Given the description of an element on the screen output the (x, y) to click on. 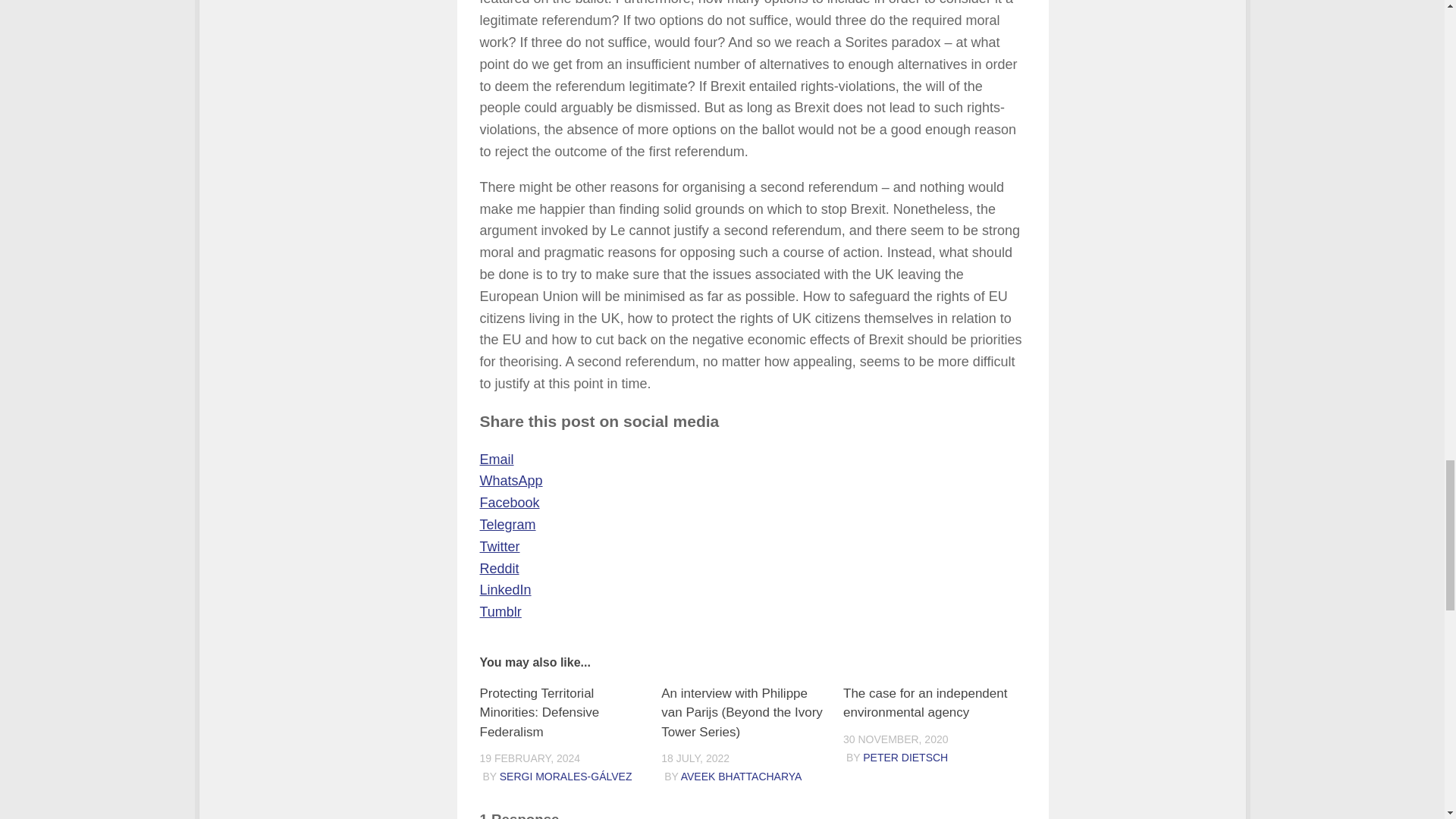
Click to share on Twitter (499, 546)
Click to share on LinkedIn (505, 589)
Click to share on Telegram (507, 524)
Click to email a link to a friend (496, 459)
Click to share on WhatsApp (510, 480)
Click to share on Reddit (498, 568)
Click to share on Facebook (508, 502)
Click to share on Tumblr (500, 611)
